Given the description of an element on the screen output the (x, y) to click on. 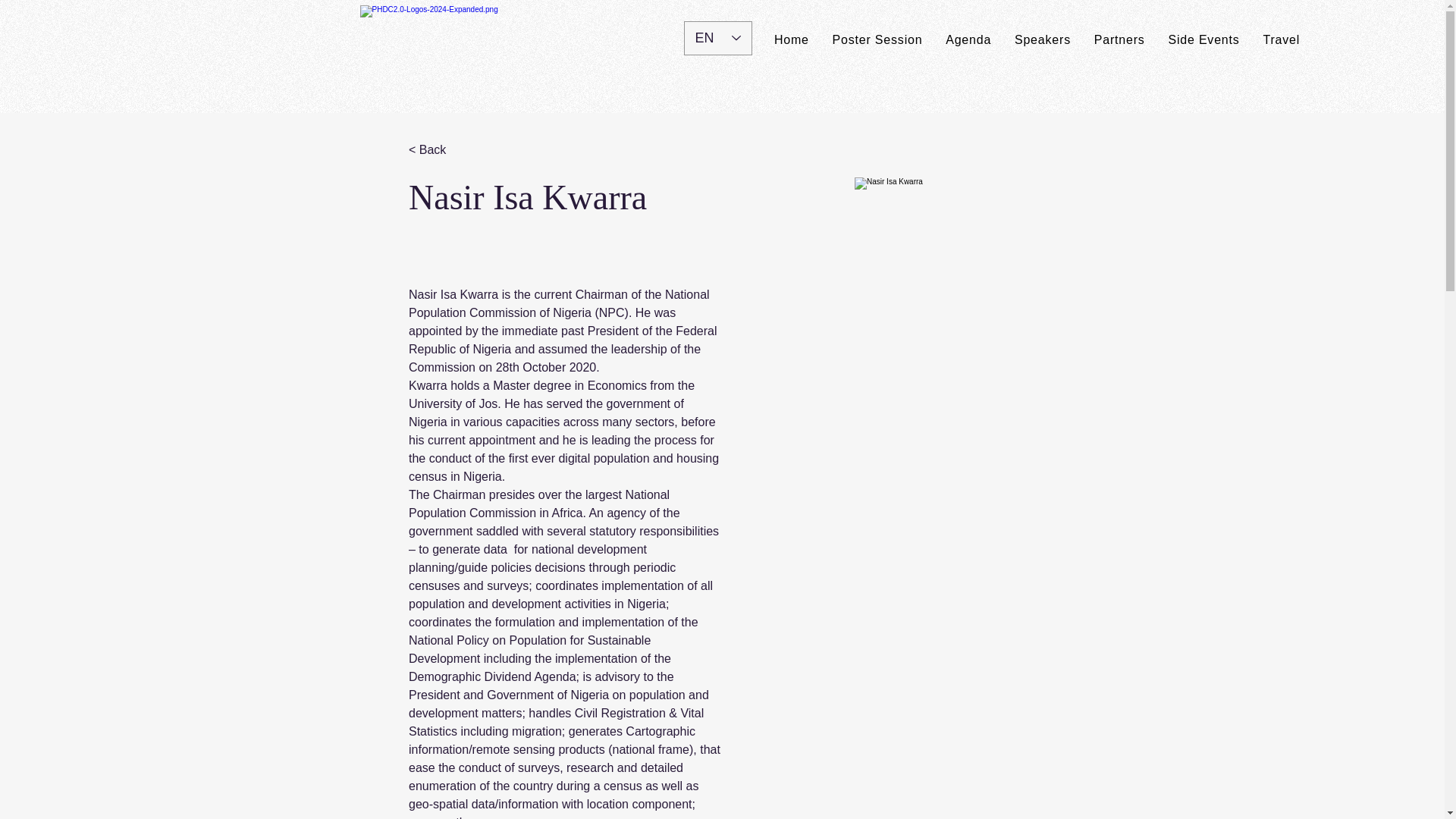
Nasir-I.jpg (1002, 326)
Partners (1118, 39)
Travel (1280, 39)
Speakers (1043, 39)
Poster Session (877, 39)
Side Events (1203, 39)
Agenda (968, 39)
Home (791, 39)
